Given the description of an element on the screen output the (x, y) to click on. 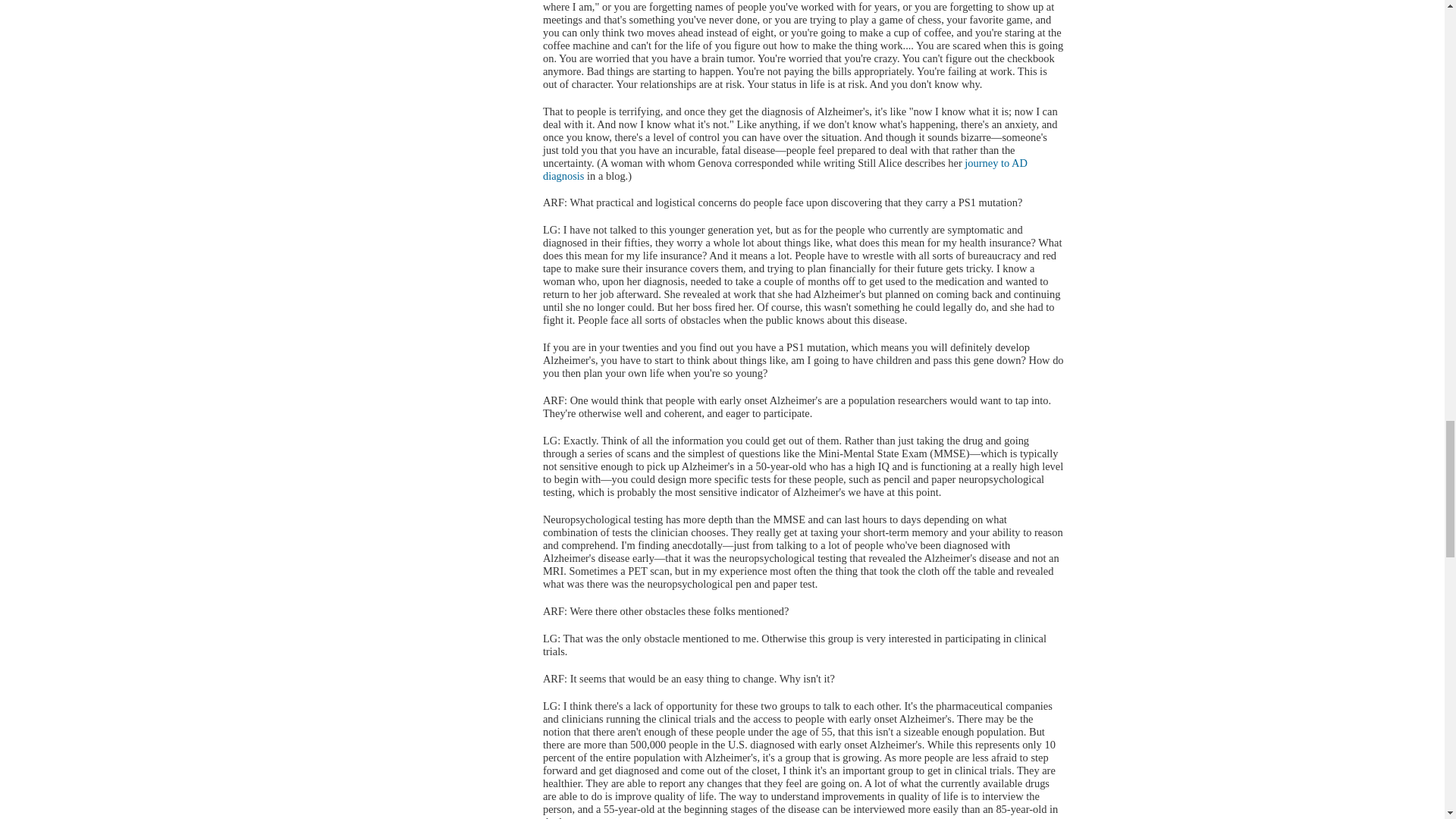
journey to AD diagnosis (785, 169)
